Given the description of an element on the screen output the (x, y) to click on. 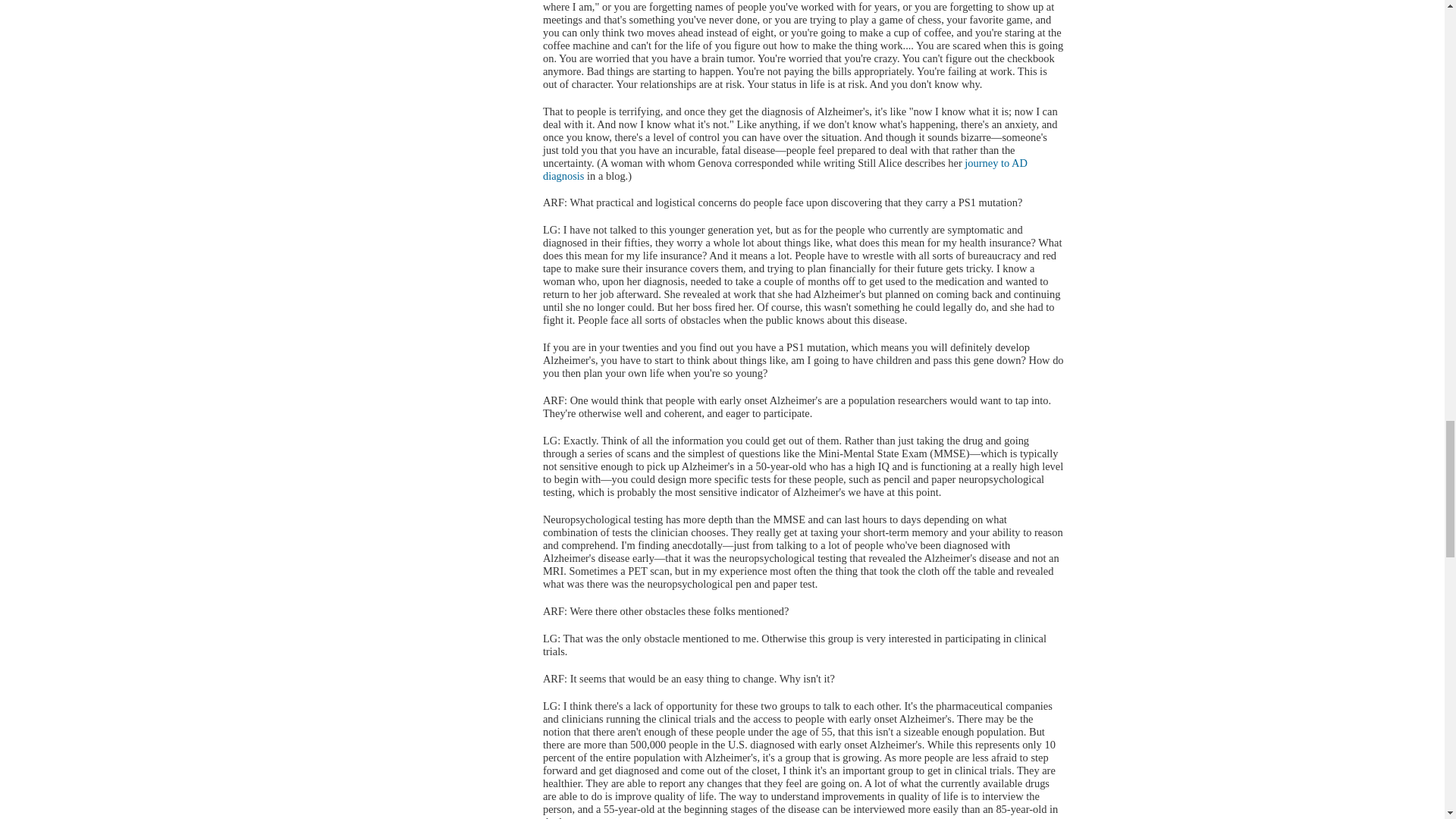
journey to AD diagnosis (785, 169)
